Given the description of an element on the screen output the (x, y) to click on. 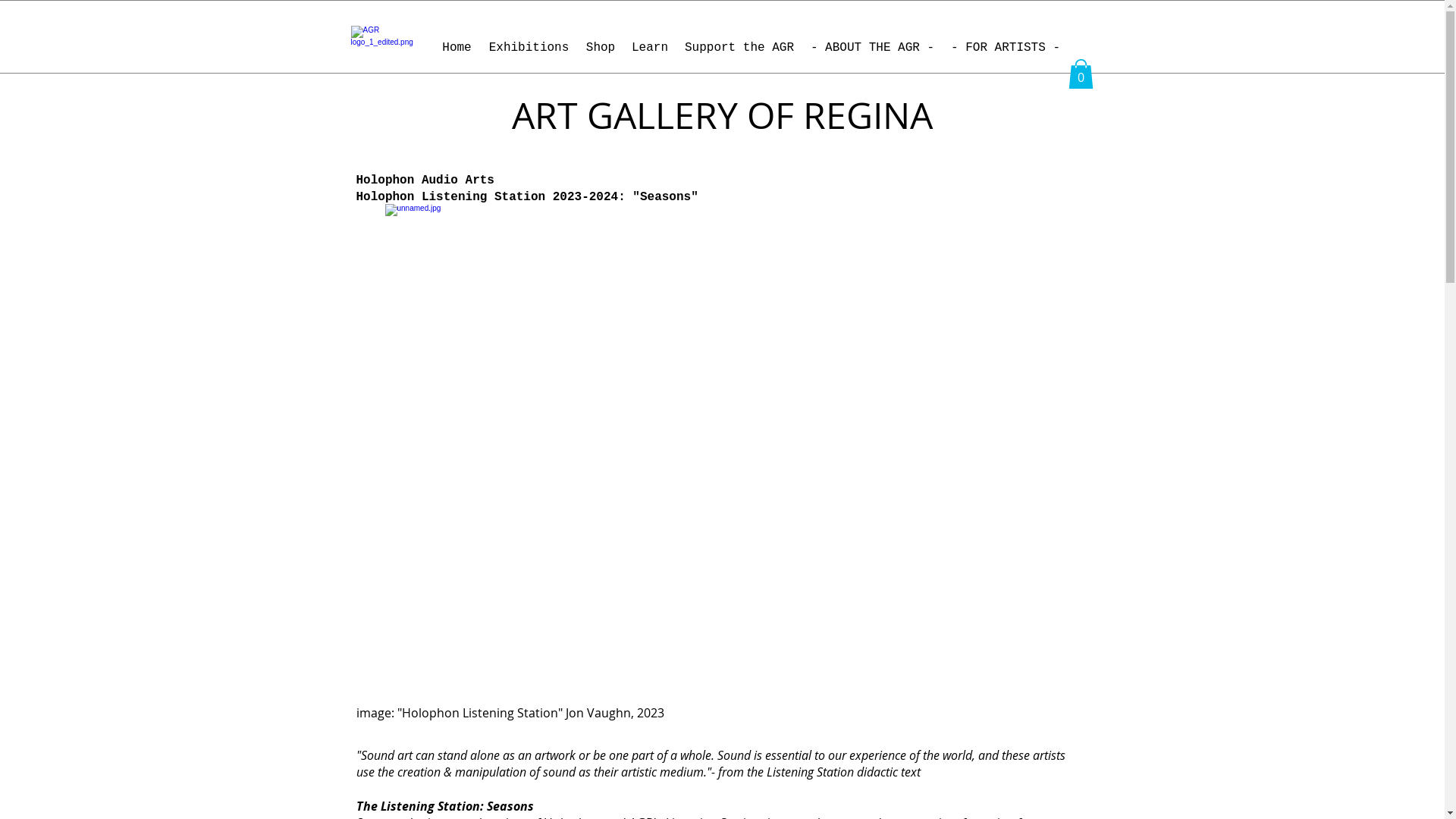
Shop Element type: text (600, 47)
0 Element type: text (1079, 73)
Home Element type: text (456, 47)
